Given the description of an element on the screen output the (x, y) to click on. 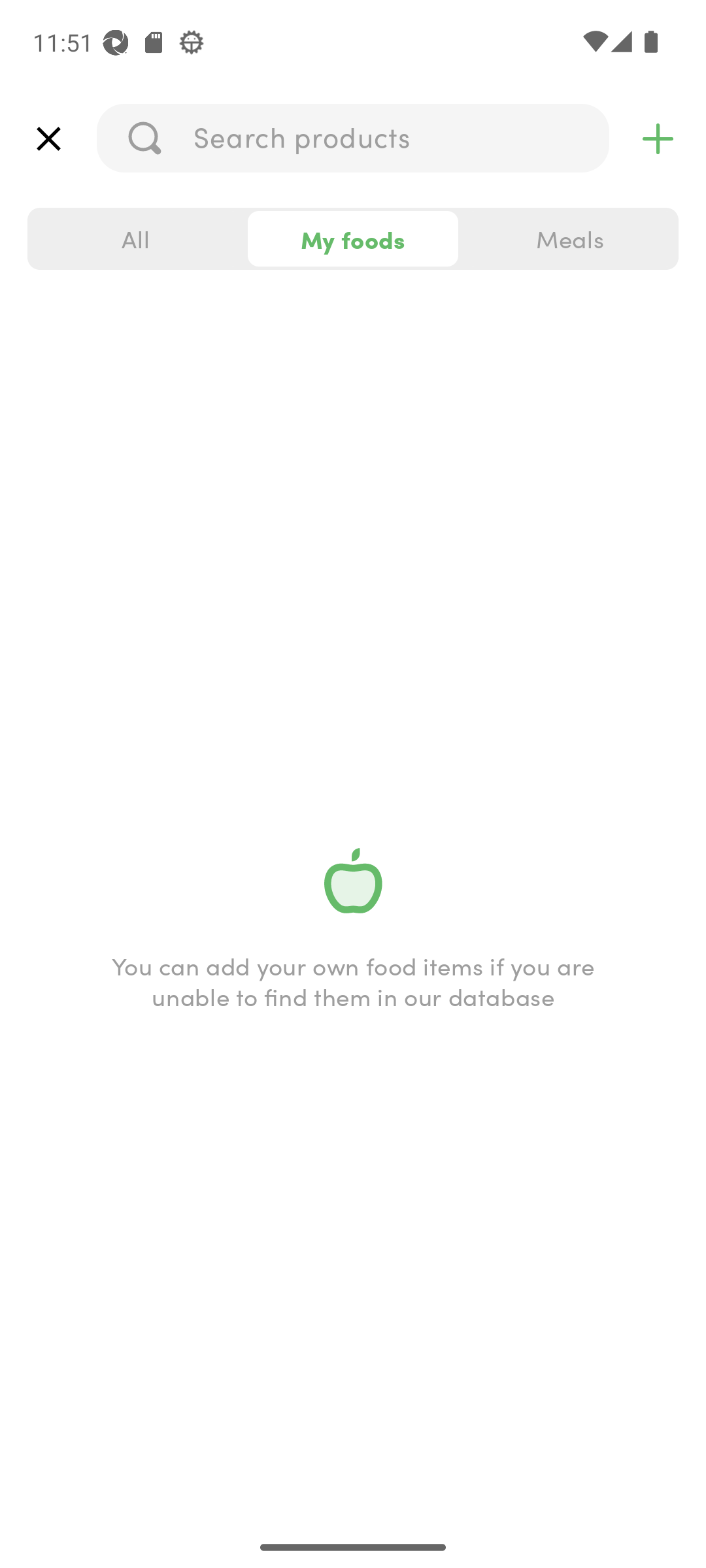
top_left_action (48, 138)
top_right_action (658, 138)
All (136, 238)
Meals (569, 238)
